Given the description of an element on the screen output the (x, y) to click on. 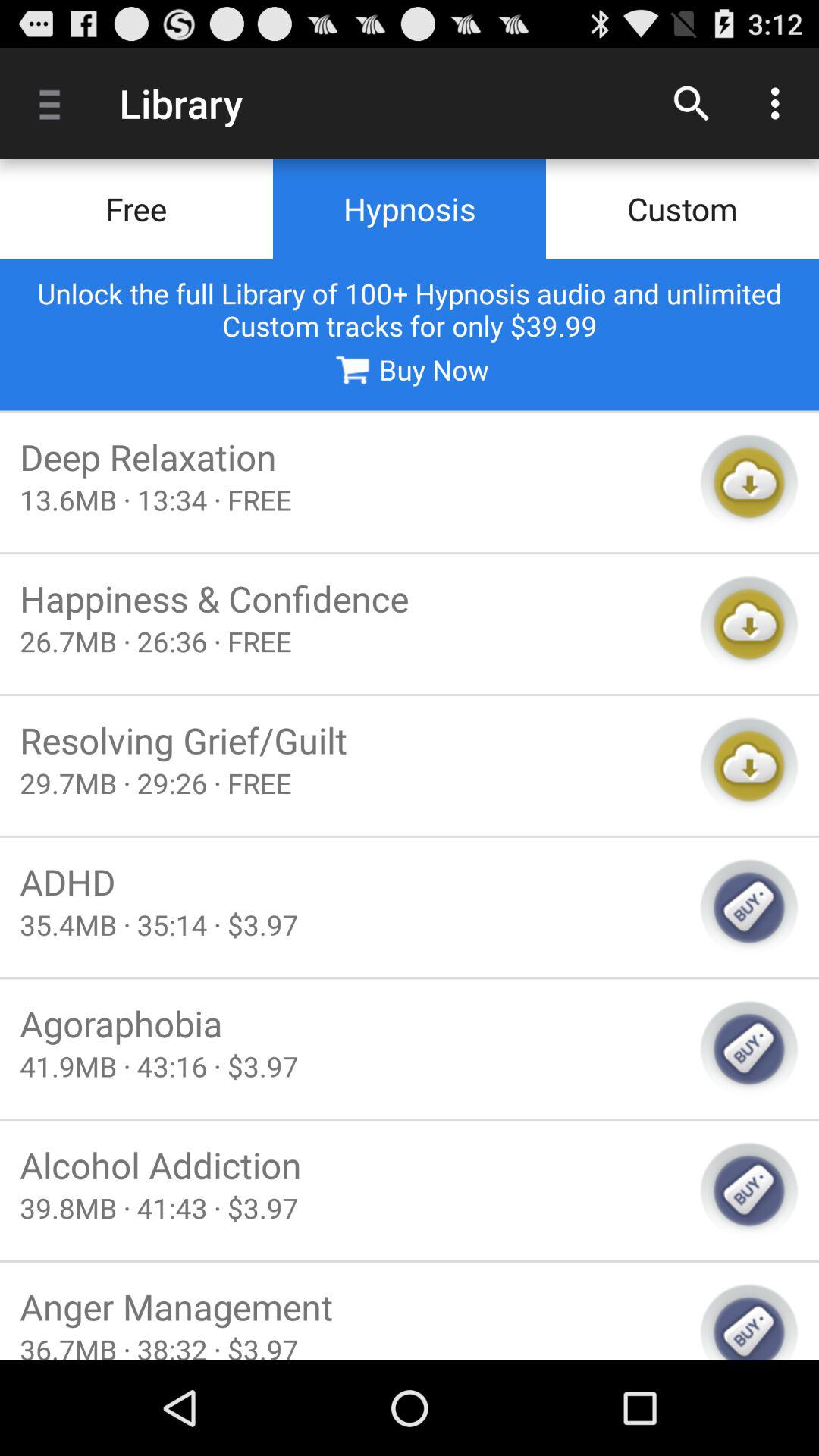
choose buy now icon (409, 369)
